Given the description of an element on the screen output the (x, y) to click on. 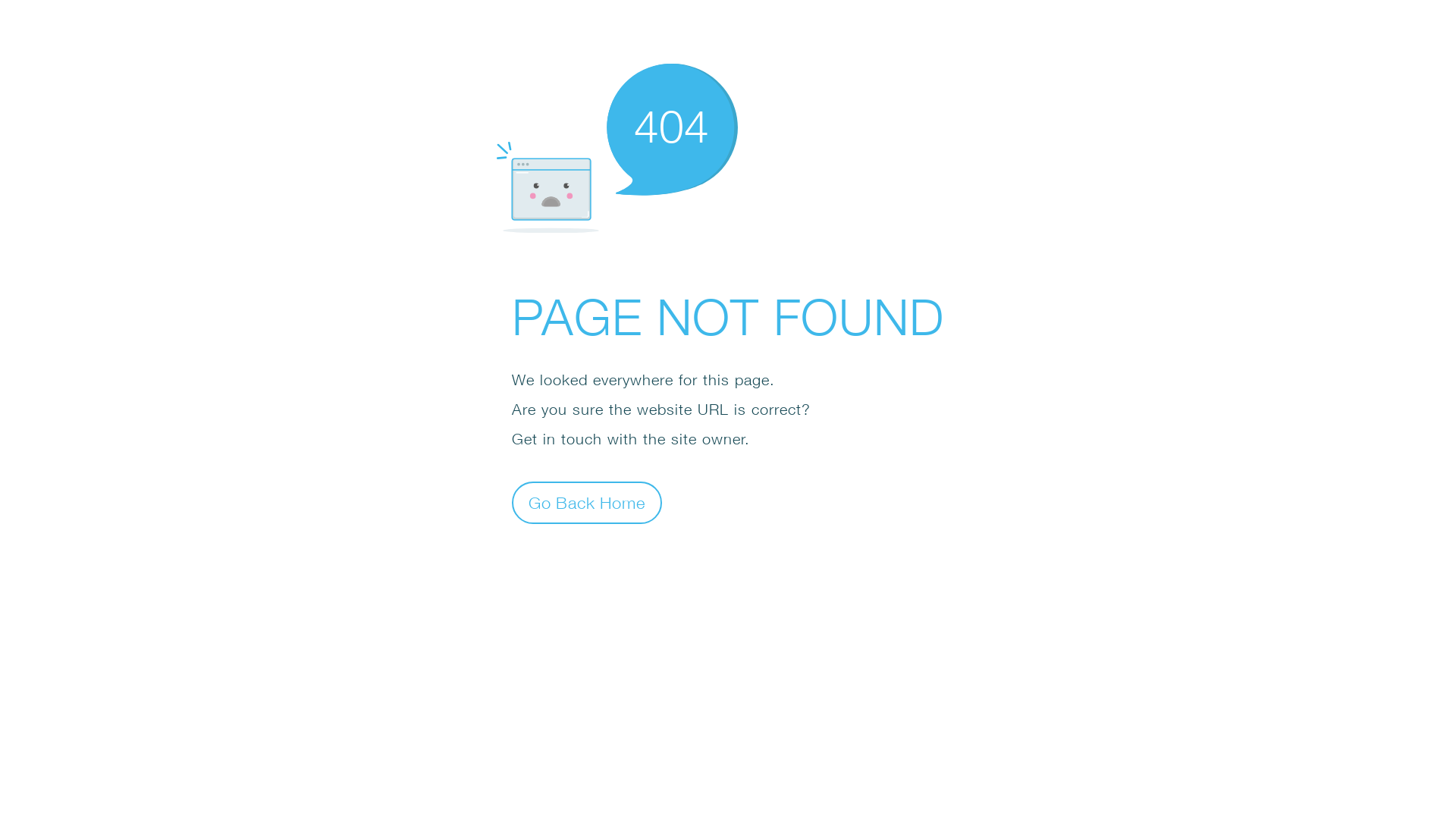
Go Back Home Element type: text (586, 502)
